Given the description of an element on the screen output the (x, y) to click on. 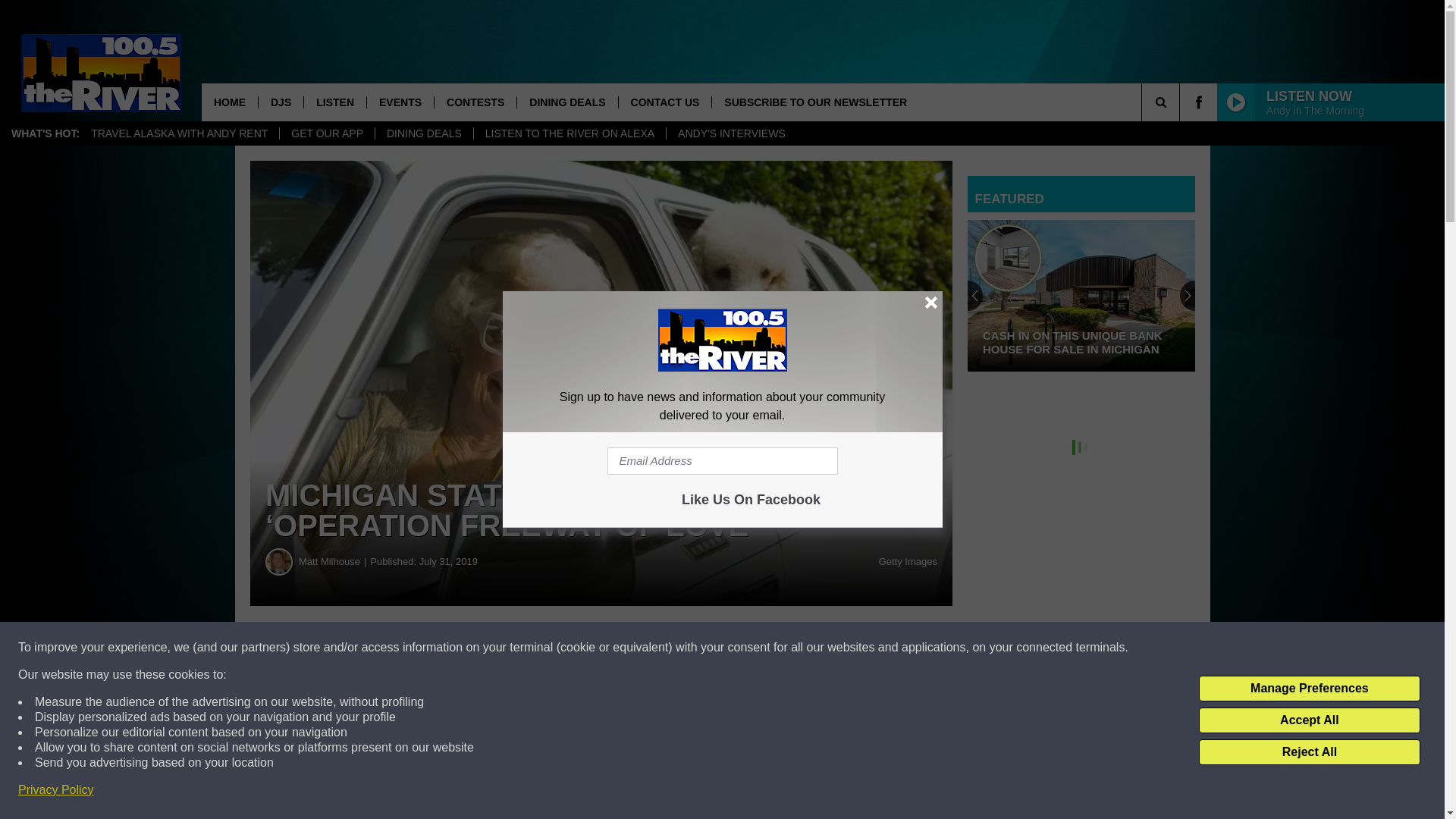
Share on Twitter (741, 647)
CONTACT US (664, 102)
CONTESTS (474, 102)
Reject All (1309, 751)
ANDY'S INTERVIEWS (730, 133)
DINING DEALS (423, 133)
SEARCH (1182, 102)
LISTEN (334, 102)
LISTEN TO THE RIVER ON ALEXA (569, 133)
GET OUR APP (326, 133)
Share on Facebook (460, 647)
Email Address (722, 461)
DJS (279, 102)
Privacy Policy (55, 789)
Manage Preferences (1309, 688)
